Given the description of an element on the screen output the (x, y) to click on. 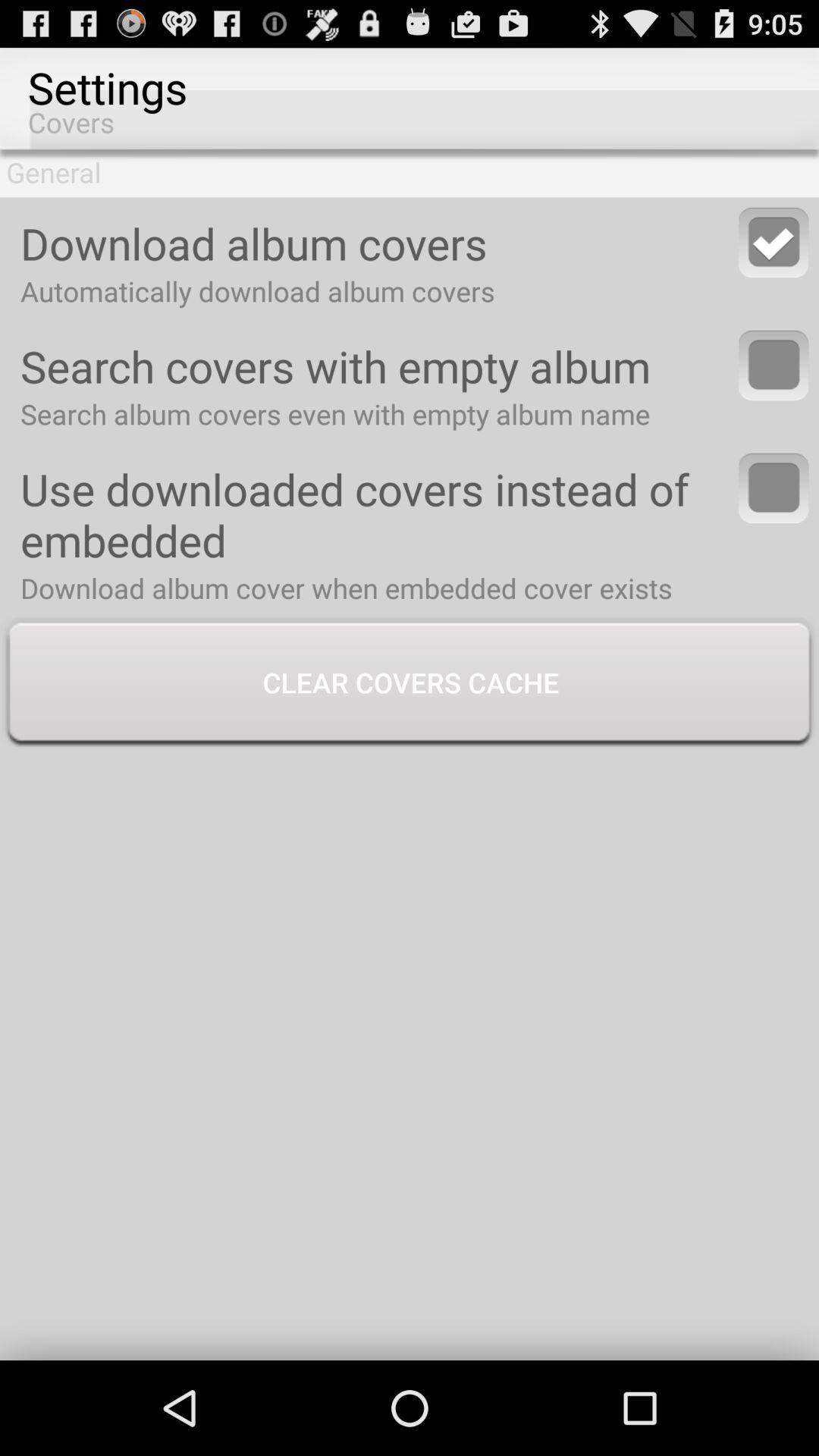
swipe until the clear covers cache button (409, 684)
